Given the description of an element on the screen output the (x, y) to click on. 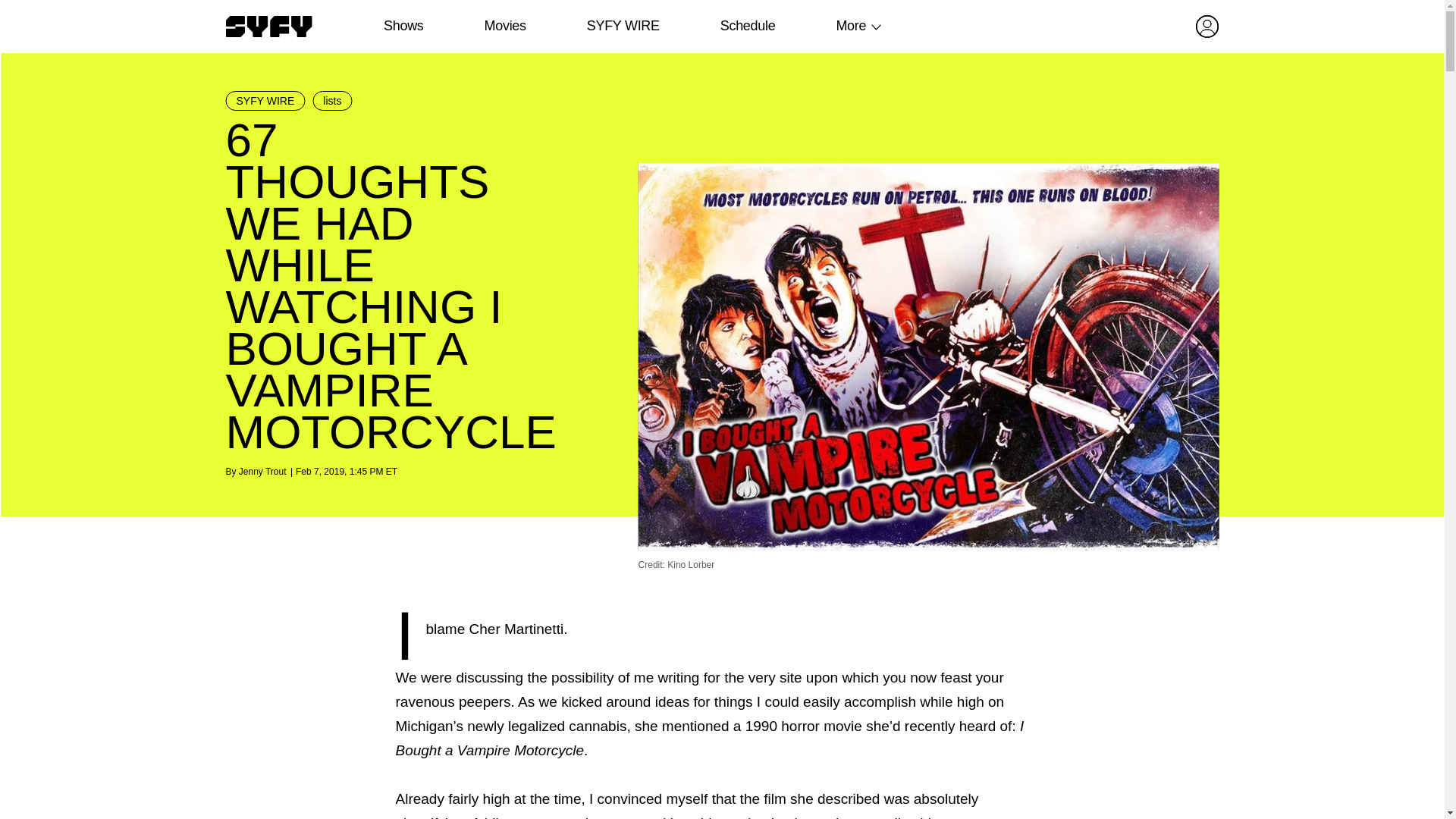
Movies (504, 26)
lists (332, 100)
Shows (403, 26)
SYFY WIRE (622, 26)
Jenny Trout (262, 471)
More (850, 26)
Schedule (746, 26)
SYFY WIRE (265, 100)
